Given the description of an element on the screen output the (x, y) to click on. 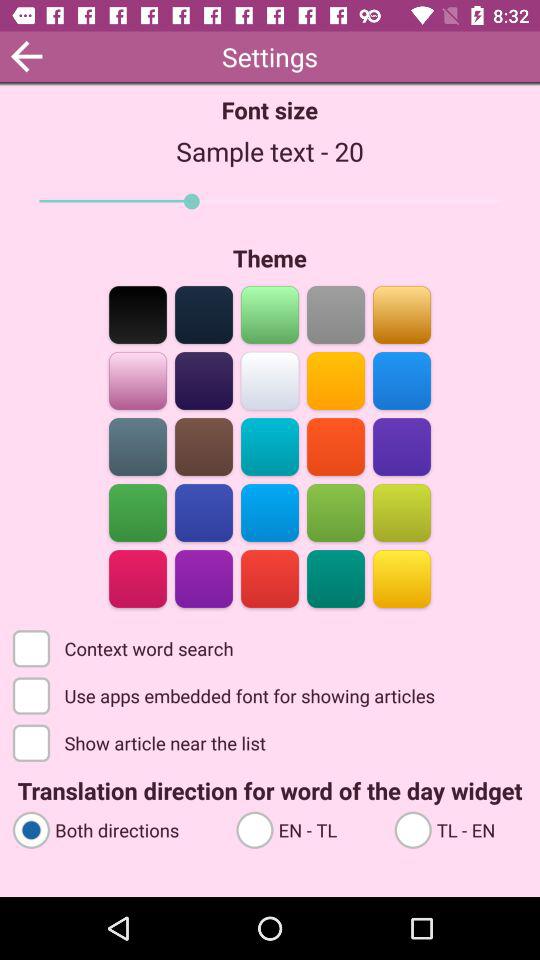
change theme to blue (401, 379)
